Given the description of an element on the screen output the (x, y) to click on. 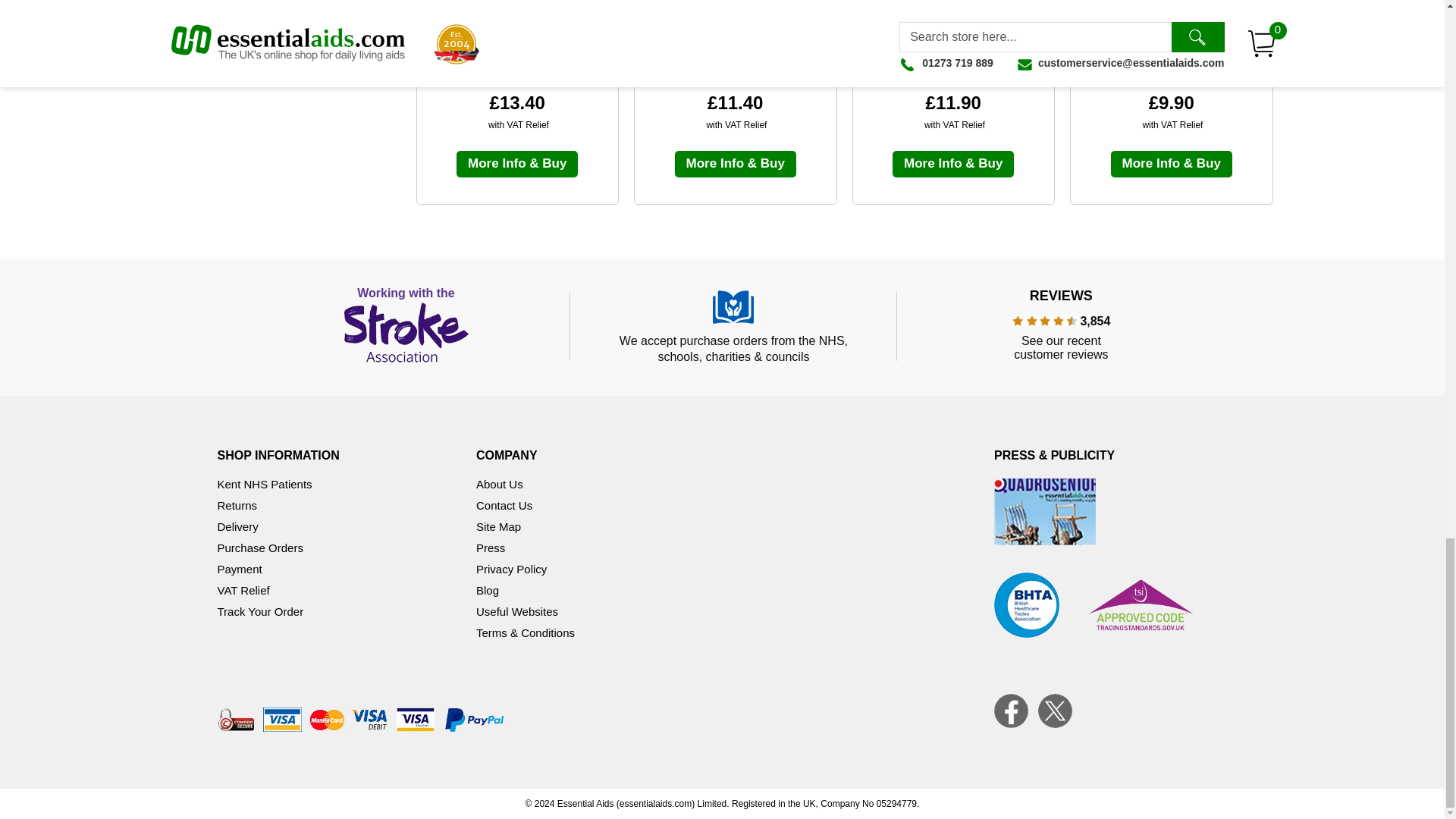
Purchase Orders (259, 547)
Returns (236, 504)
Delivery (236, 526)
Stroke Association (406, 326)
Track Your Order (259, 611)
VAT Relief (242, 590)
Payment (239, 568)
Kent NHS Patients (263, 483)
